Given the description of an element on the screen output the (x, y) to click on. 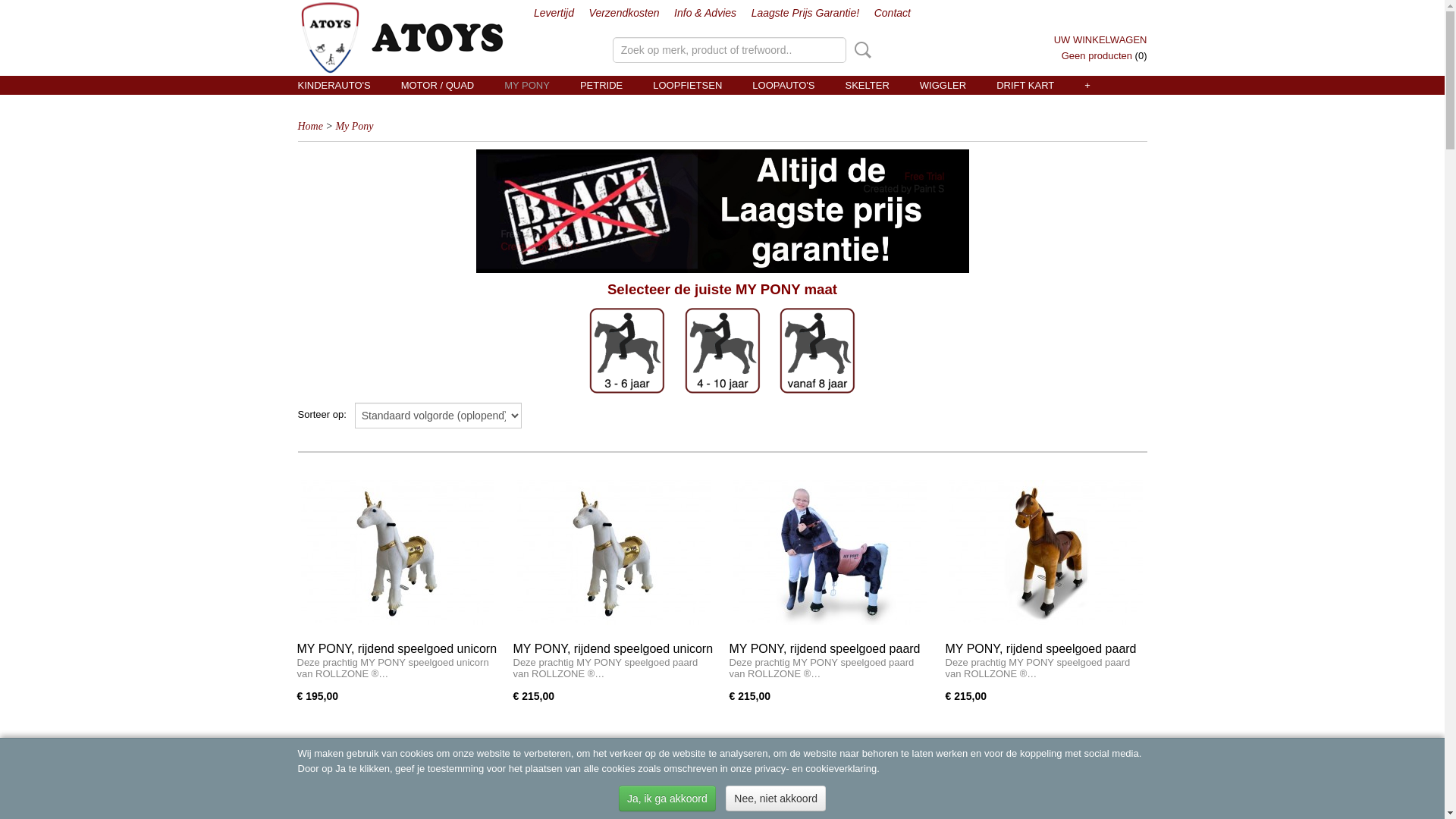
LOOPAUTO'S Element type: text (783, 84)
My Pony Element type: text (354, 125)
MOTOR / QUAD Element type: text (437, 84)
UW WINKELWAGEN Element type: text (1100, 39)
Nee, niet akkoord Element type: text (775, 798)
MY PONY Element type: text (526, 84)
Verzendkosten Element type: text (624, 12)
Home Element type: text (309, 125)
Levertijd Element type: text (553, 12)
Ja, ik ga akkoord Element type: text (666, 798)
WIGGLER Element type: text (942, 84)
KINDERAUTO'S Element type: text (333, 84)
PETRIDE Element type: text (600, 84)
DRIFT KART Element type: text (1025, 84)
LOOPFIETSEN Element type: text (687, 84)
Contact Element type: text (892, 12)
Laagste Prijs Garantie! Element type: text (805, 12)
Info & Advies Element type: text (705, 12)
SKELTER Element type: text (866, 84)
Zoeken Element type: text (859, 49)
+ Element type: text (1087, 84)
